Given the description of an element on the screen output the (x, y) to click on. 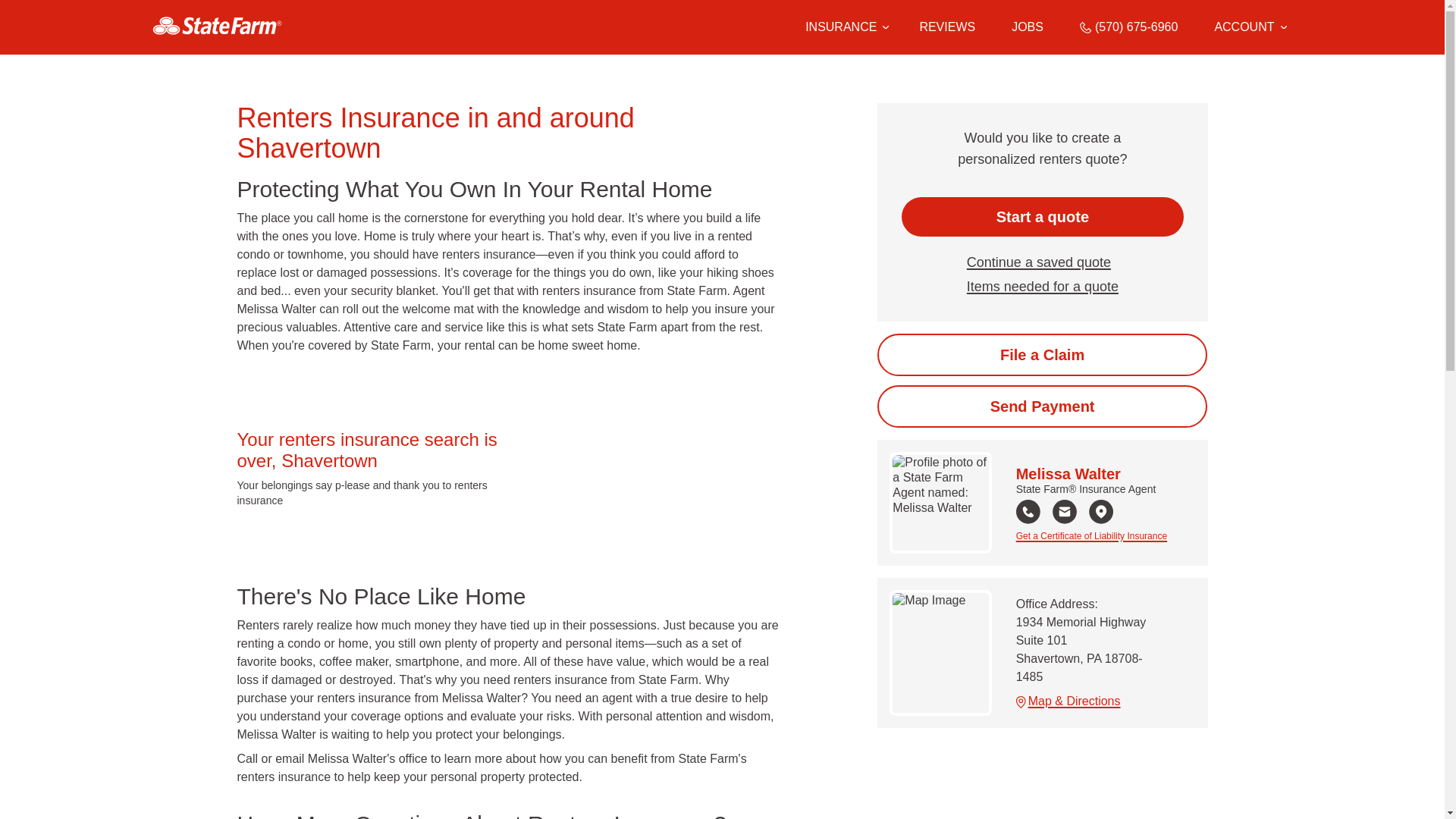
Account Options (1250, 27)
ACCOUNT (1250, 27)
Insurance (844, 27)
INSURANCE (840, 27)
REVIEWS (946, 27)
JOBS (1027, 27)
Start the claim process online (1042, 354)
